Given the description of an element on the screen output the (x, y) to click on. 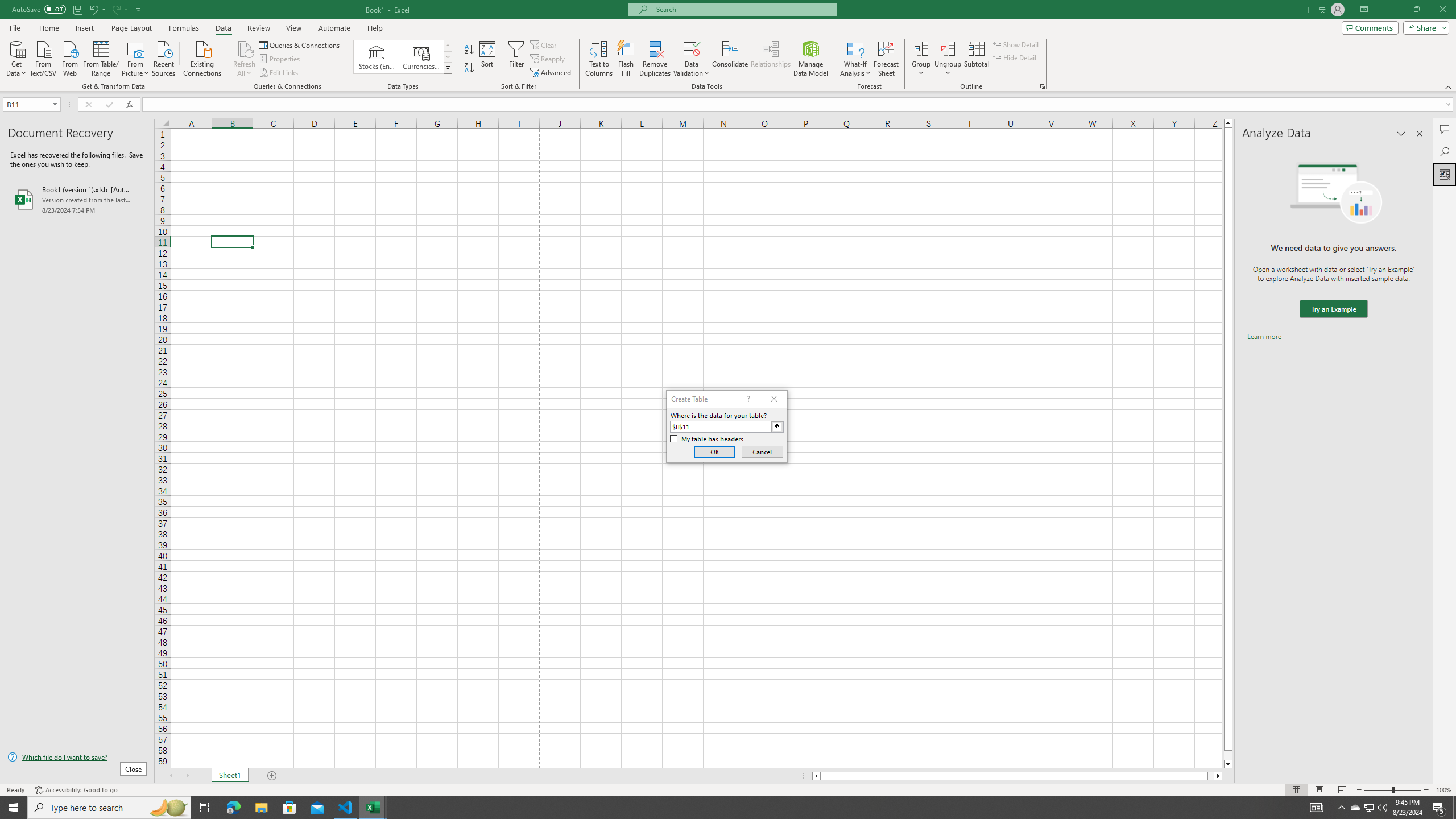
Relationships (770, 58)
Remove Duplicates (654, 58)
Comments (1369, 27)
Redo (115, 9)
Refresh All (244, 48)
Scroll Left (171, 775)
Queries & Connections (300, 44)
Sort Z to A (469, 67)
Review (258, 28)
Row Down (448, 56)
Class: MsoCommandBar (728, 45)
Properties (280, 58)
Insert (83, 28)
Home (48, 28)
